Given the description of an element on the screen output the (x, y) to click on. 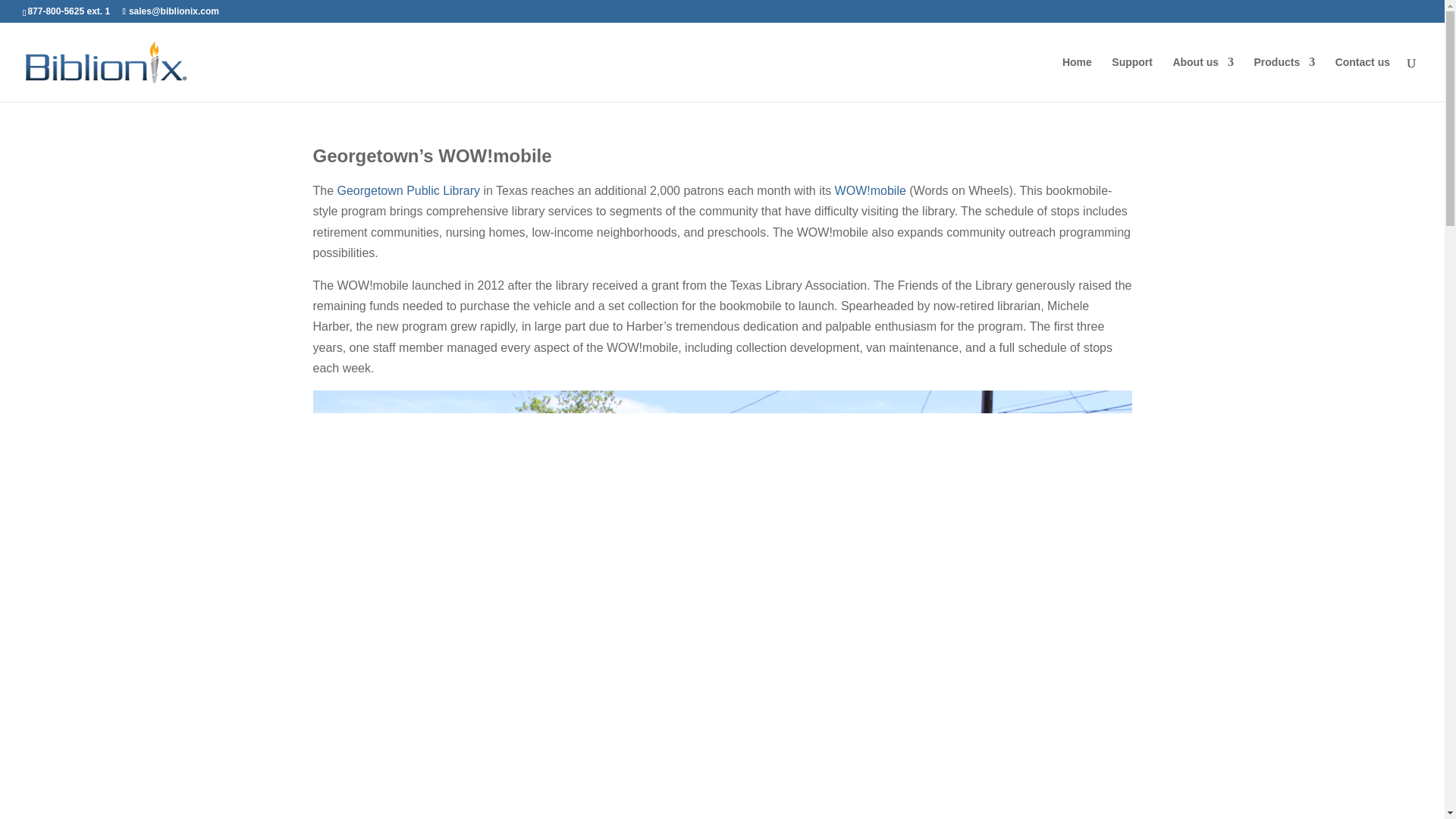
About us (1202, 78)
Georgetown Public Library (408, 190)
WOW!mobile (869, 190)
Products (1284, 78)
Support (1132, 78)
Contact us (1362, 78)
877-800-5625 ext. 1 (68, 10)
